Given the description of an element on the screen output the (x, y) to click on. 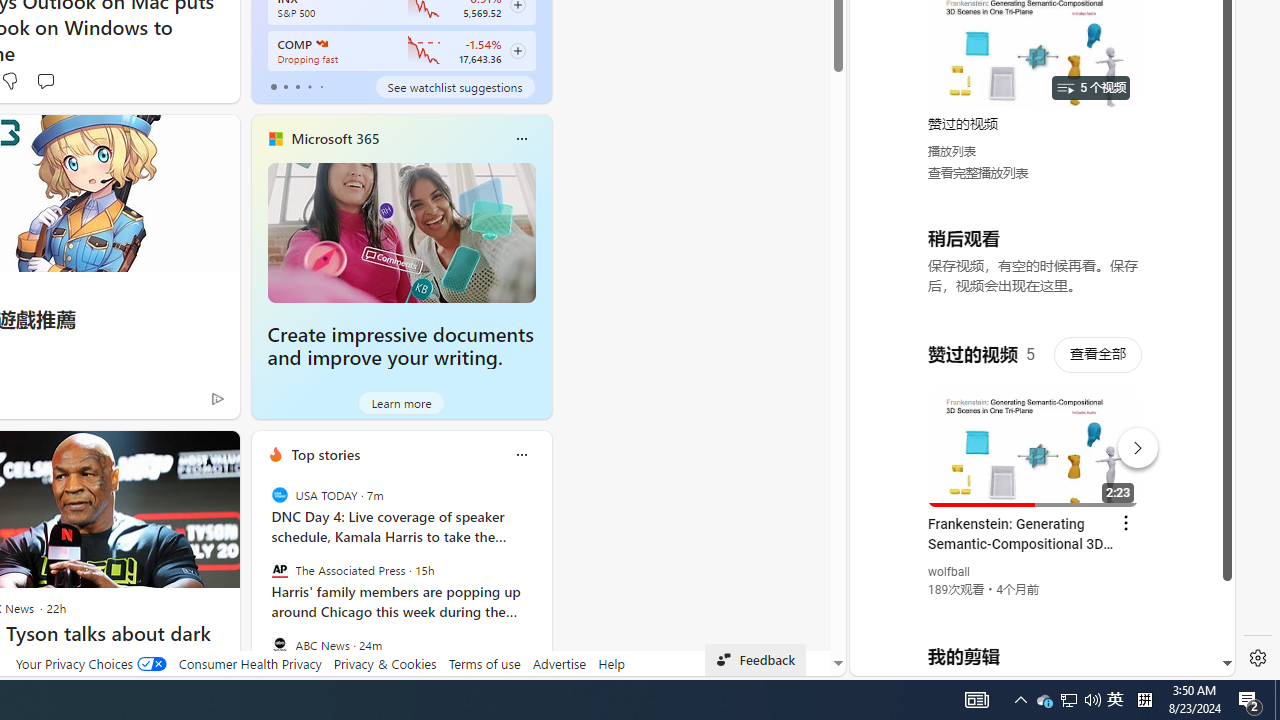
tab-2 (297, 86)
wolfball (949, 572)
Learn more (401, 402)
Help (610, 663)
Terms of use (484, 663)
tab-3 (309, 86)
More options (521, 454)
Start the conversation (45, 80)
next (541, 583)
Create impressive documents and improve your writing. (401, 232)
tab-1 (285, 86)
you (1034, 609)
US[ju] (917, 660)
